Given the description of an element on the screen output the (x, y) to click on. 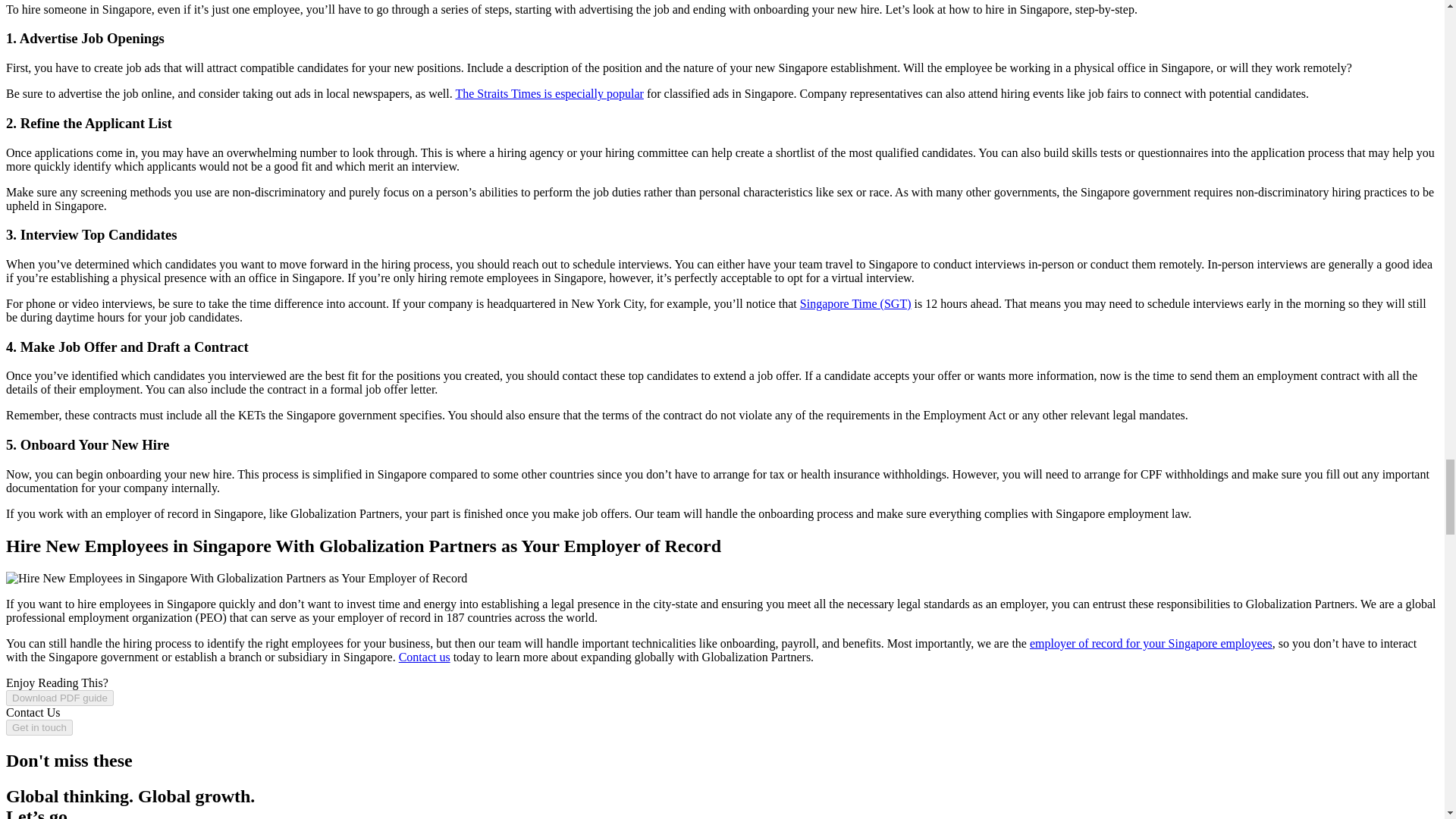
Download PDF guide (59, 697)
The Straits Times is especially popular (548, 92)
Contact us (423, 656)
employer of record for your Singapore employees (1150, 643)
